Given the description of an element on the screen output the (x, y) to click on. 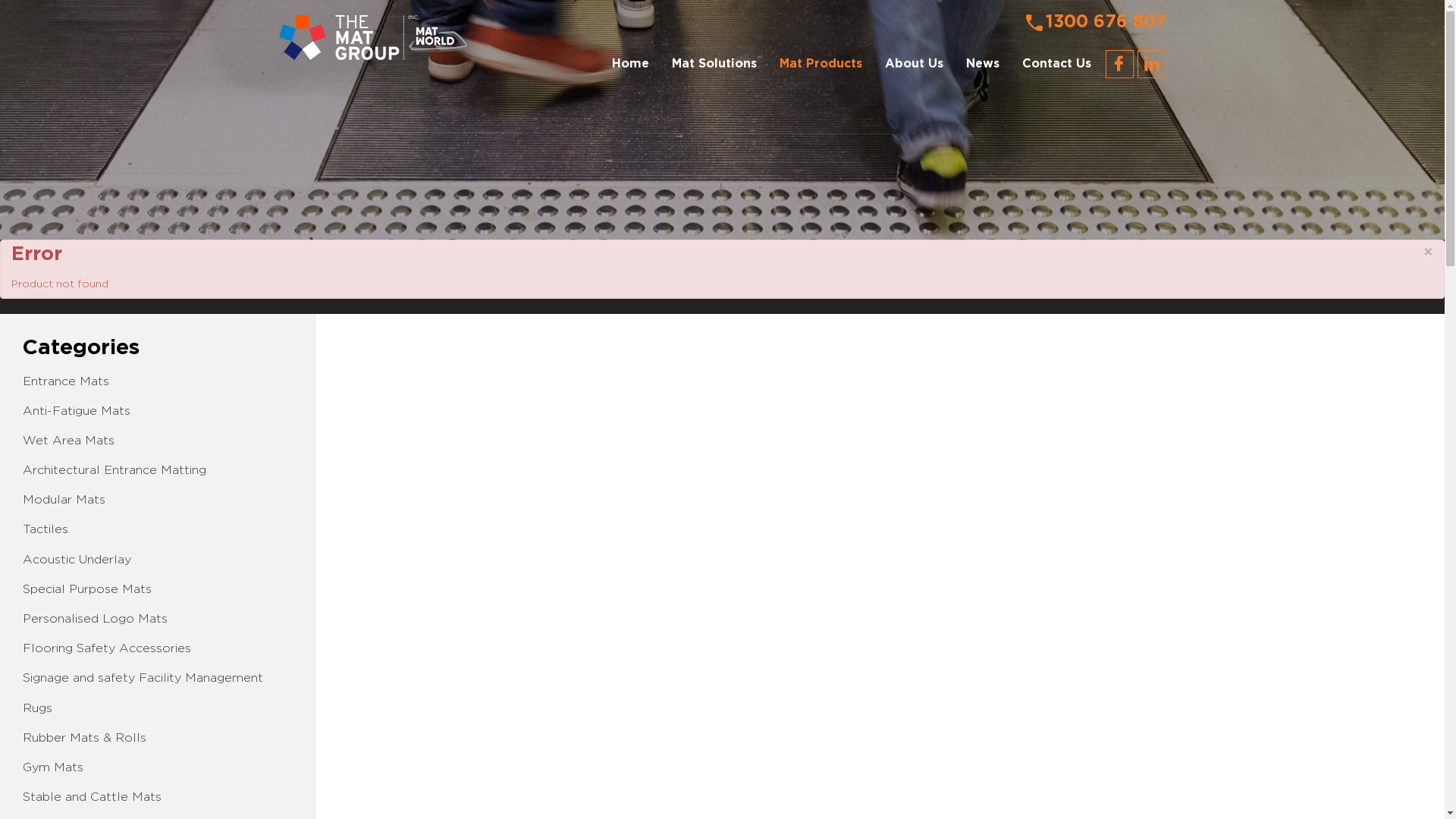
Acoustic Underlay Element type: text (76, 559)
Tactiles Element type: text (45, 529)
Modular Mats Element type: text (63, 499)
Flooring Safety Accessories Element type: text (106, 648)
Rugs Element type: text (37, 708)
1300 676 807 Element type: text (1093, 22)
Architectural Entrance Matting Element type: text (114, 470)
Anti-Fatigue Mats Element type: text (76, 411)
Rubber Mats & Rolls Element type: text (84, 738)
Home Element type: text (630, 63)
Special Purpose Mats Element type: text (86, 589)
Gym Mats Element type: text (52, 767)
Entrance Mats Element type: text (65, 381)
Stable and Cattle Mats Element type: text (91, 797)
Contact Us Element type: text (1055, 63)
Signage and safety Facility Management Element type: text (142, 678)
Personalised Logo Mats Element type: text (94, 618)
Wet Area Mats Element type: text (68, 440)
News Element type: text (981, 63)
Mat Solutions Element type: text (713, 63)
